Given the description of an element on the screen output the (x, y) to click on. 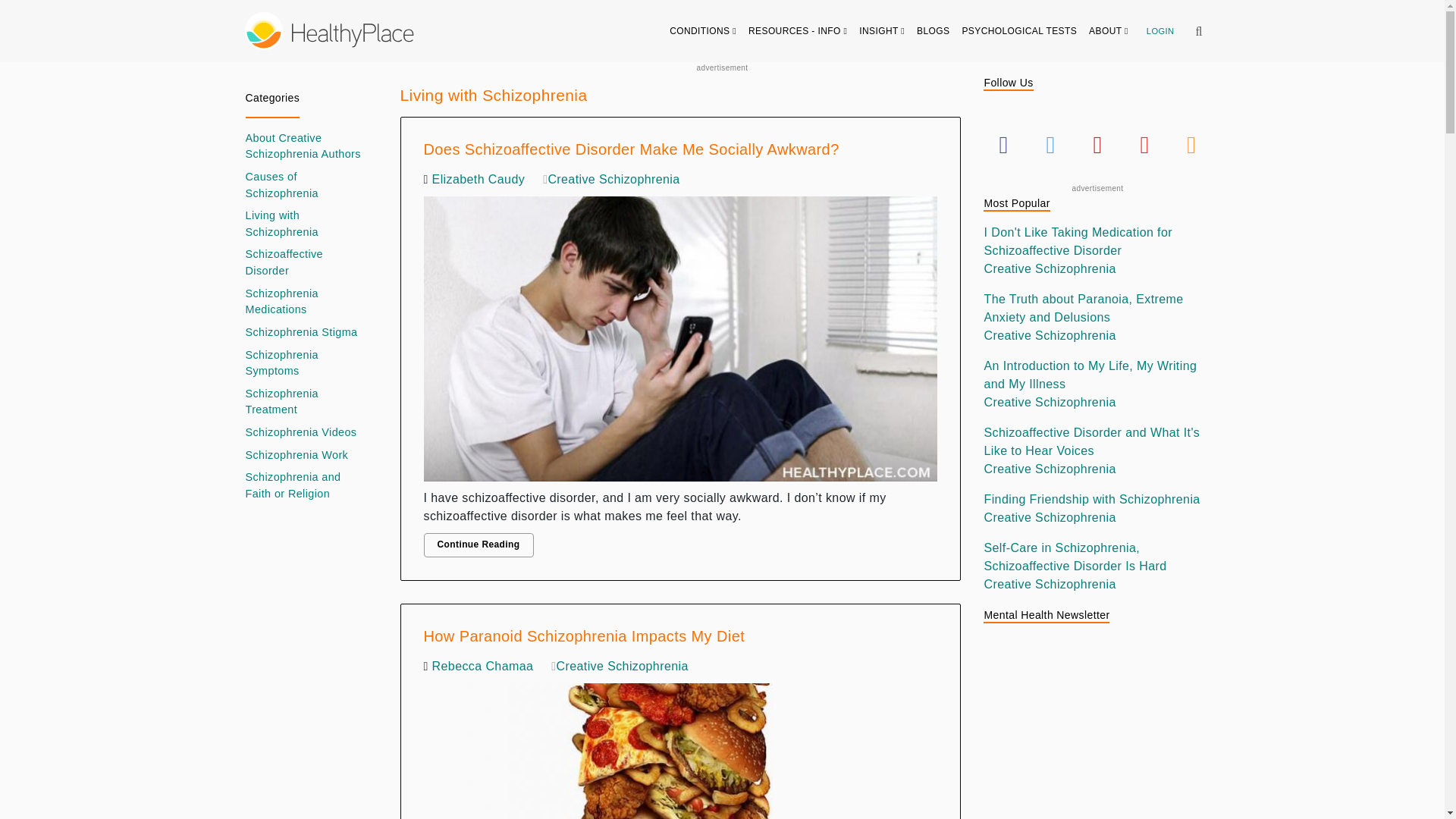
How Schizophrenia Impacts My Diet (680, 747)
RESOURCES - INFO (797, 31)
CONDITIONS (702, 31)
INSIGHT (882, 31)
